Given the description of an element on the screen output the (x, y) to click on. 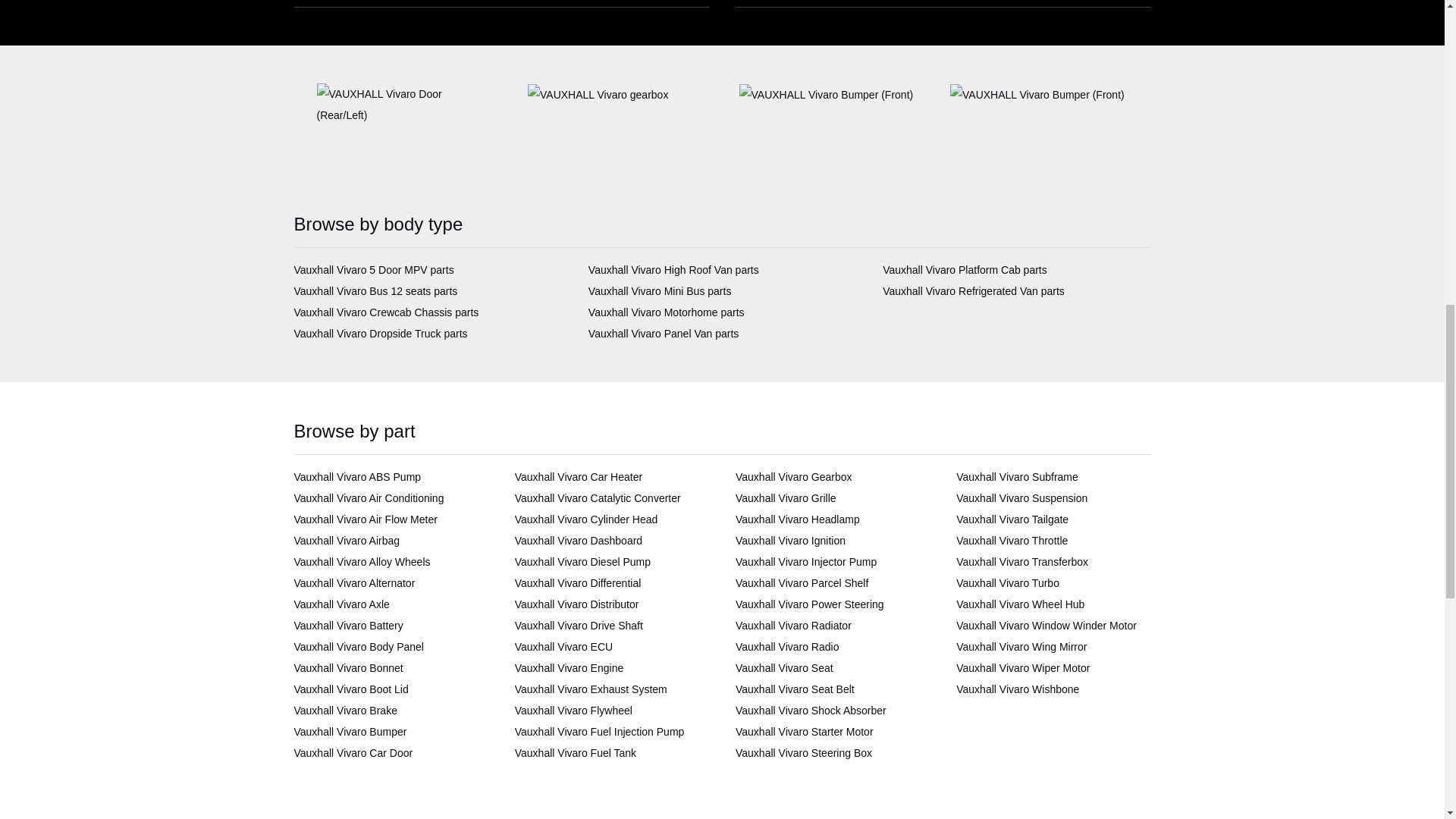
Vauxhall Vivaro 5 Door MPV parts (374, 269)
Vauxhall Vivaro Crewcab Chassis parts (386, 312)
Vauxhall Vivaro Bus 12 seats parts (376, 291)
